Given the description of an element on the screen output the (x, y) to click on. 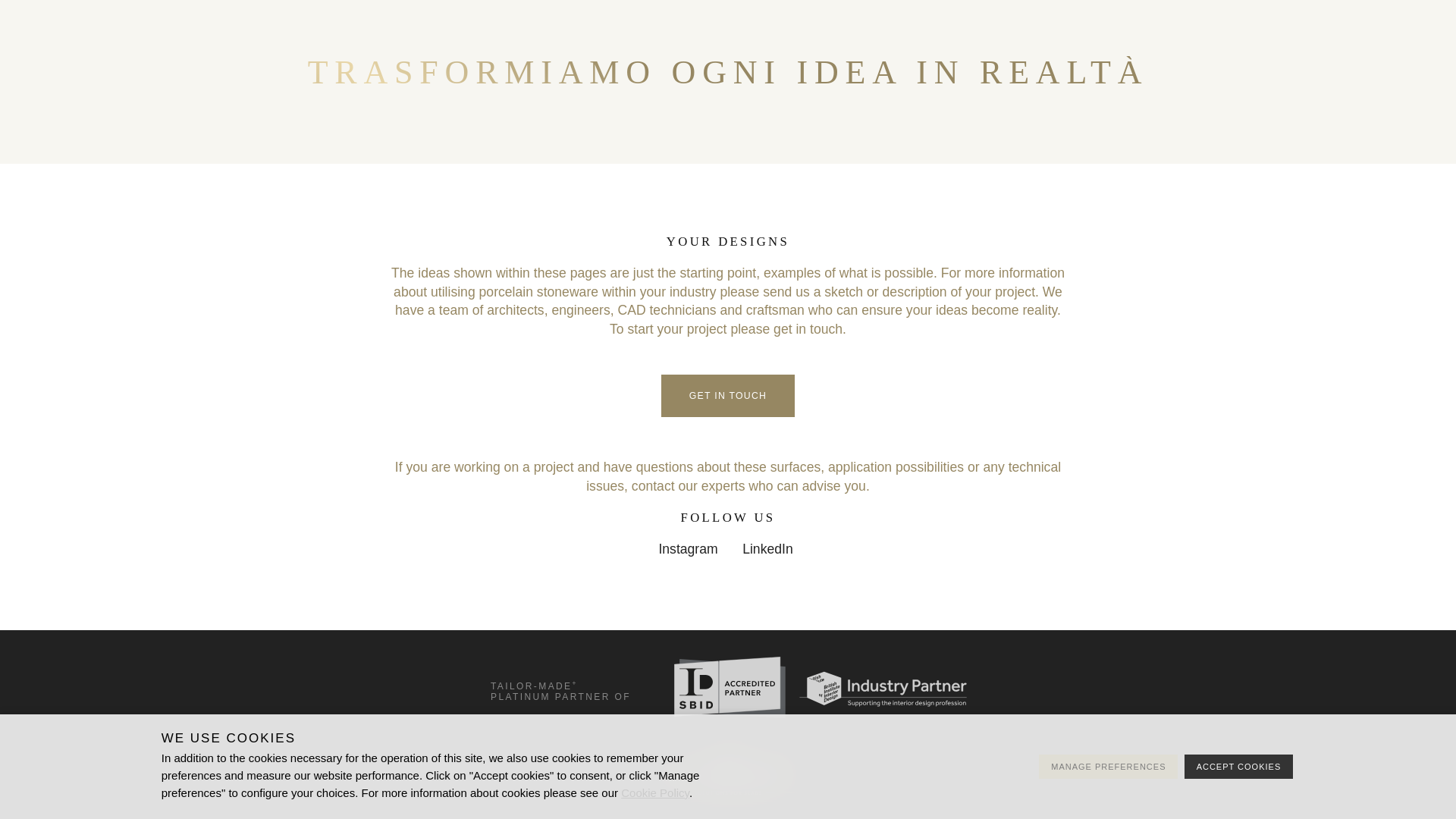
Instagram (688, 548)
GET IN TOUCH (727, 395)
LinkedIn (767, 548)
